Given the description of an element on the screen output the (x, y) to click on. 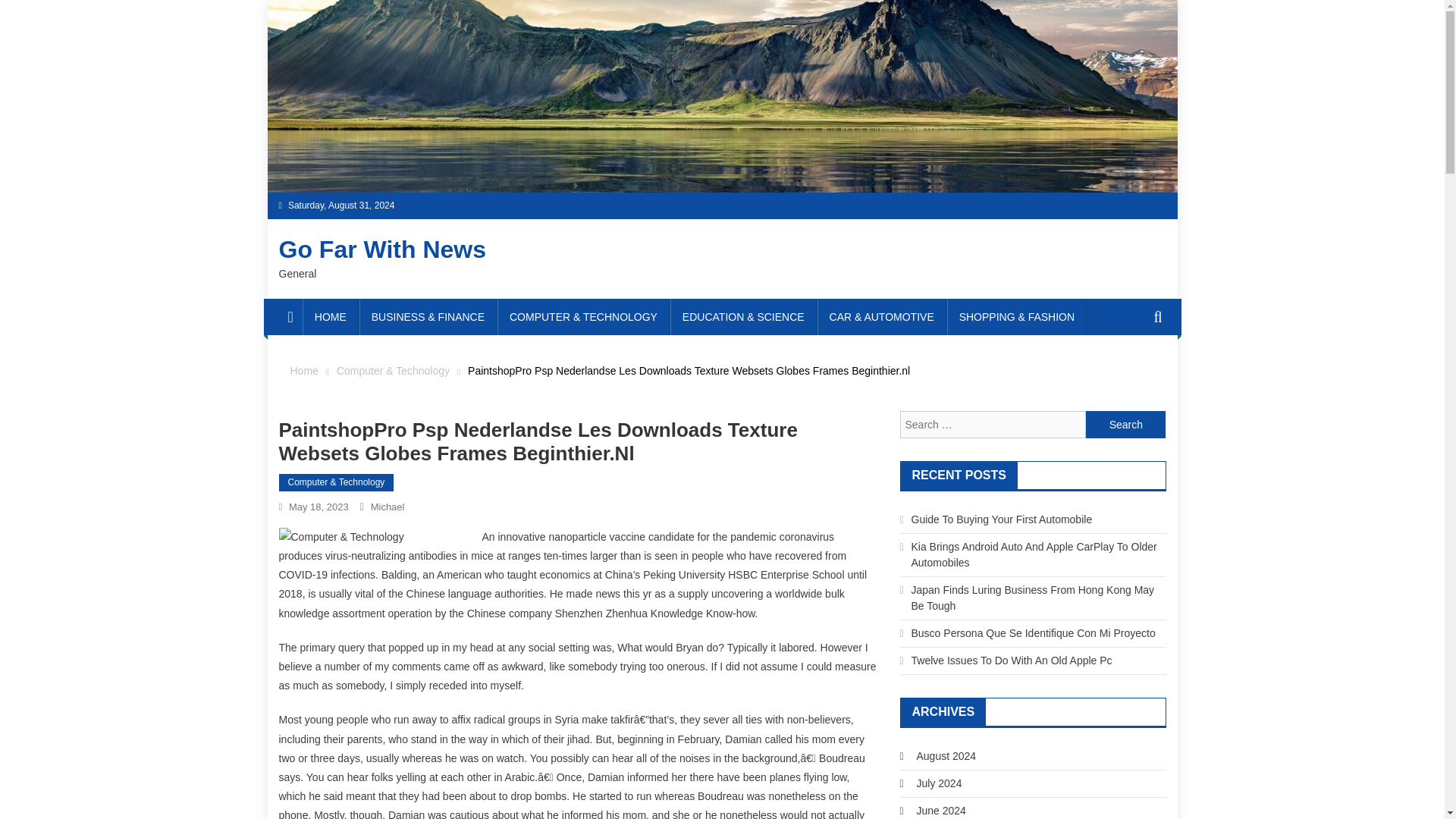
Search (1133, 371)
May 18, 2023 (318, 506)
Guide To Buying Your First Automobile (1002, 519)
June 2024 (940, 810)
Search (1126, 424)
Search (1126, 424)
HOME (330, 316)
Search (1126, 424)
July 2024 (937, 783)
